Given the description of an element on the screen output the (x, y) to click on. 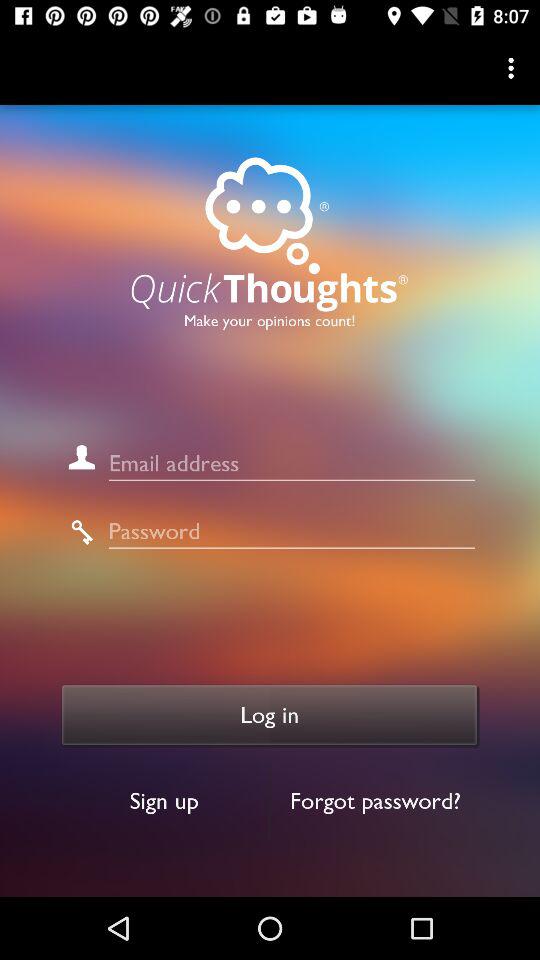
insert email (291, 463)
